Given the description of an element on the screen output the (x, y) to click on. 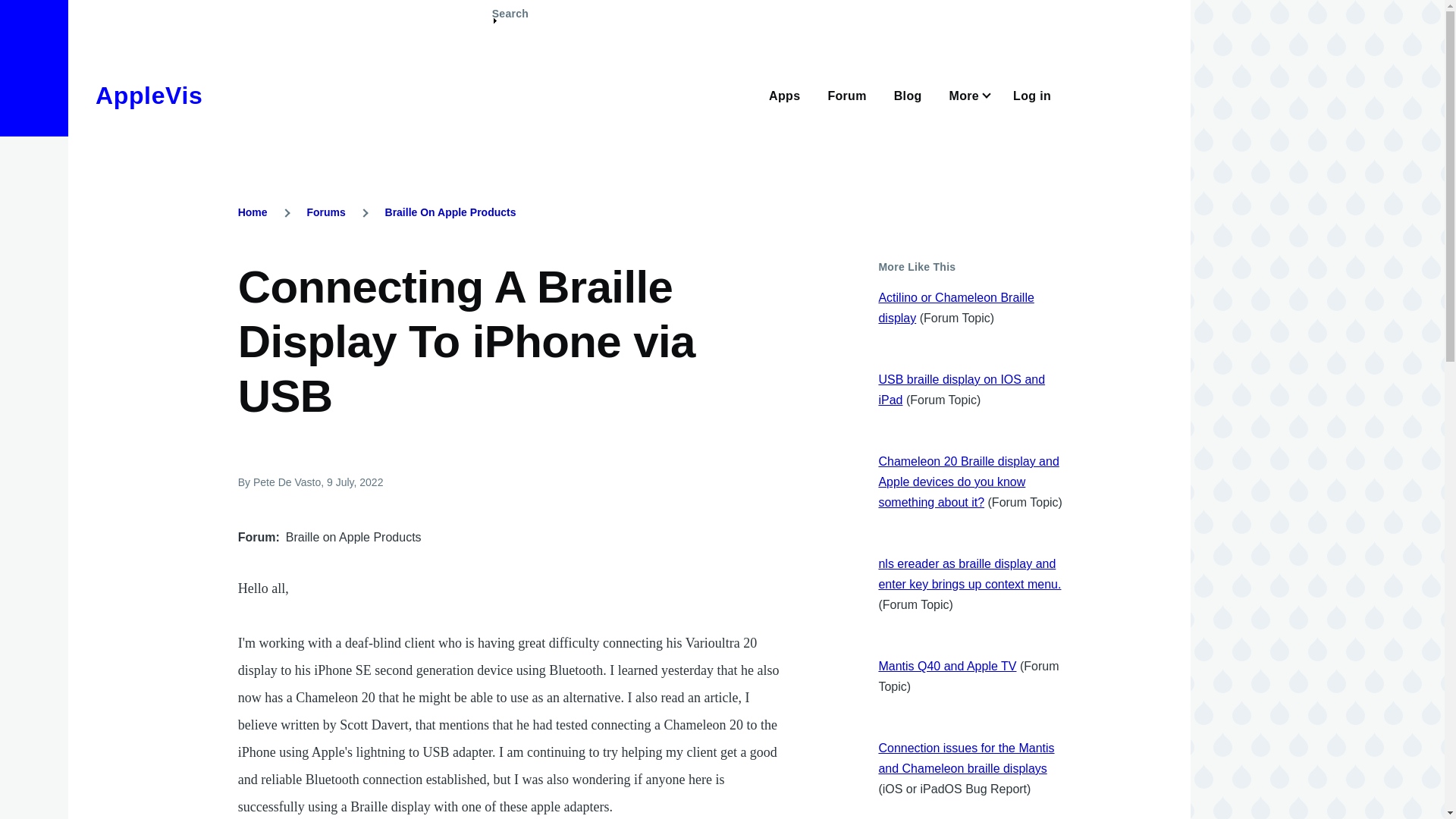
Search (510, 20)
Braille On Apple Products (450, 212)
AppleVis (149, 94)
Forums (325, 212)
Skip to main content (595, 6)
Home (252, 212)
USB braille display on IOS and iPad (961, 389)
Actilino or Chameleon Braille display (955, 307)
